Given the description of an element on the screen output the (x, y) to click on. 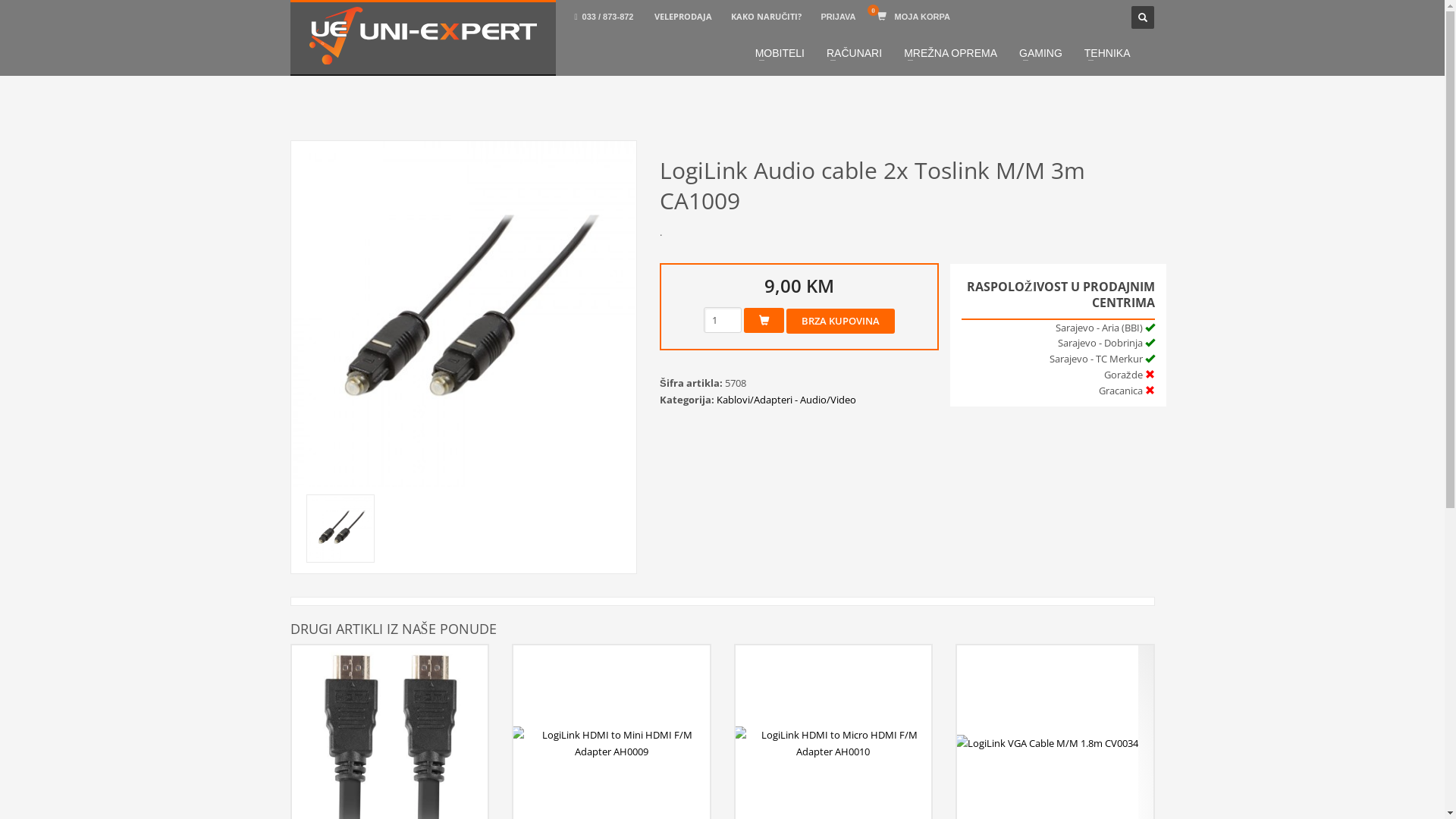
MOJA KORPA Element type: text (913, 16)
PRIJAVA Element type: text (837, 16)
PRIJAVA Element type: text (838, 16)
MOBITELI Element type: text (779, 52)
BRZA KUPOVINA Element type: text (840, 320)
GAMING Element type: text (1040, 52)
LogiLink HDMI to Micro HDMI F/M Adapter AH0010 Element type: hover (833, 742)
LogiLink VGA Cable M/M 1.8m CV0034 Element type: hover (1046, 742)
Kablovi/Adapteri - Audio/Video Element type: text (786, 399)
LogiLink Audio cable 2x Toslink M/M 3m CA1009 Element type: hover (340, 528)
LogiLink HDMI to Mini HDMI F/M Adapter AH0009 Element type: hover (611, 742)
TEHNIKA Element type: text (1107, 52)
VELEPRODAJA Element type: text (683, 16)
Dodaj u korpu Element type: hover (763, 319)
LogiLink Audio cable 2x Toslink M/M 3m CA1009 Element type: hover (464, 313)
